Given the description of an element on the screen output the (x, y) to click on. 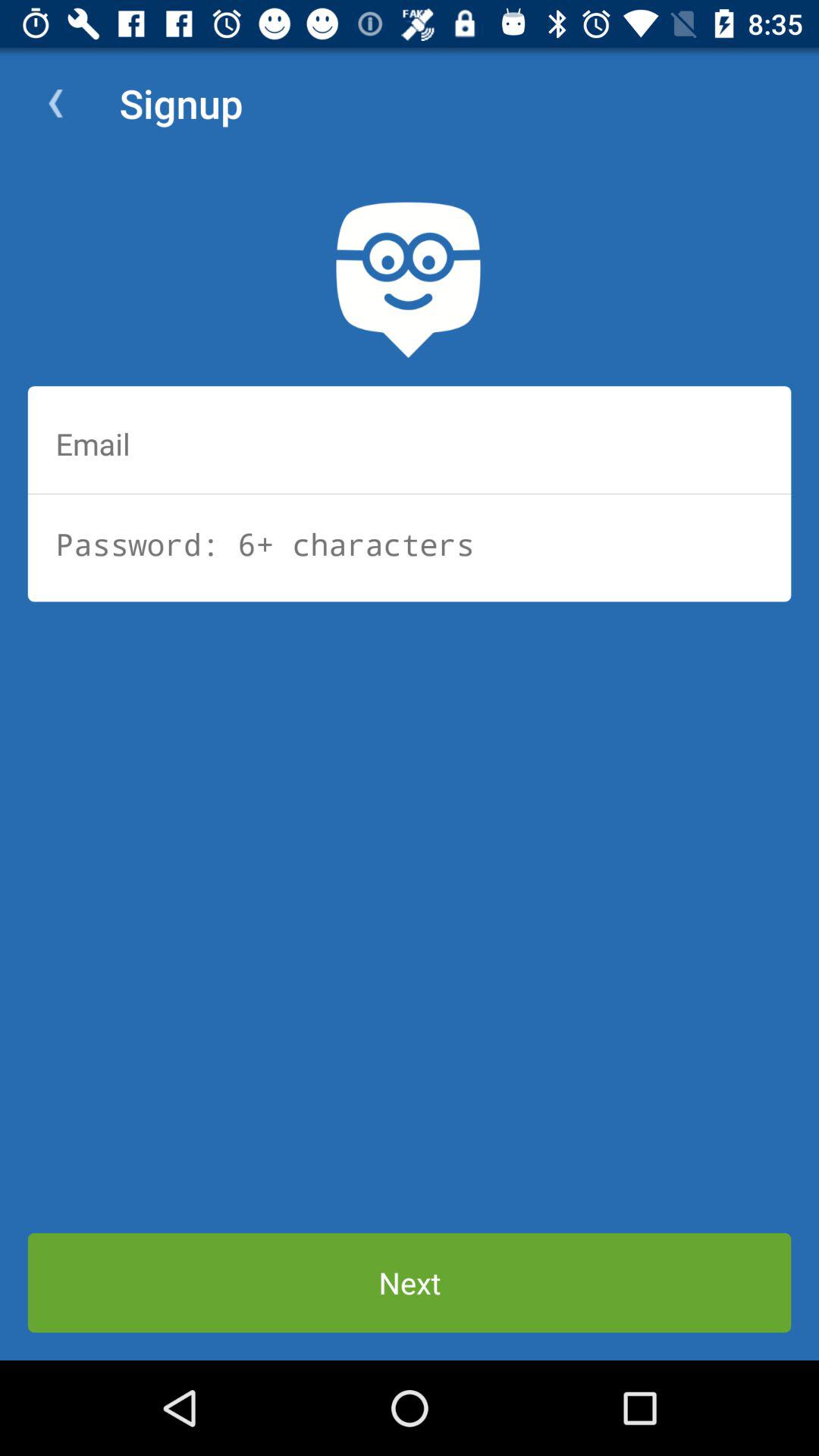
enter password of 6+ characters (409, 543)
